Given the description of an element on the screen output the (x, y) to click on. 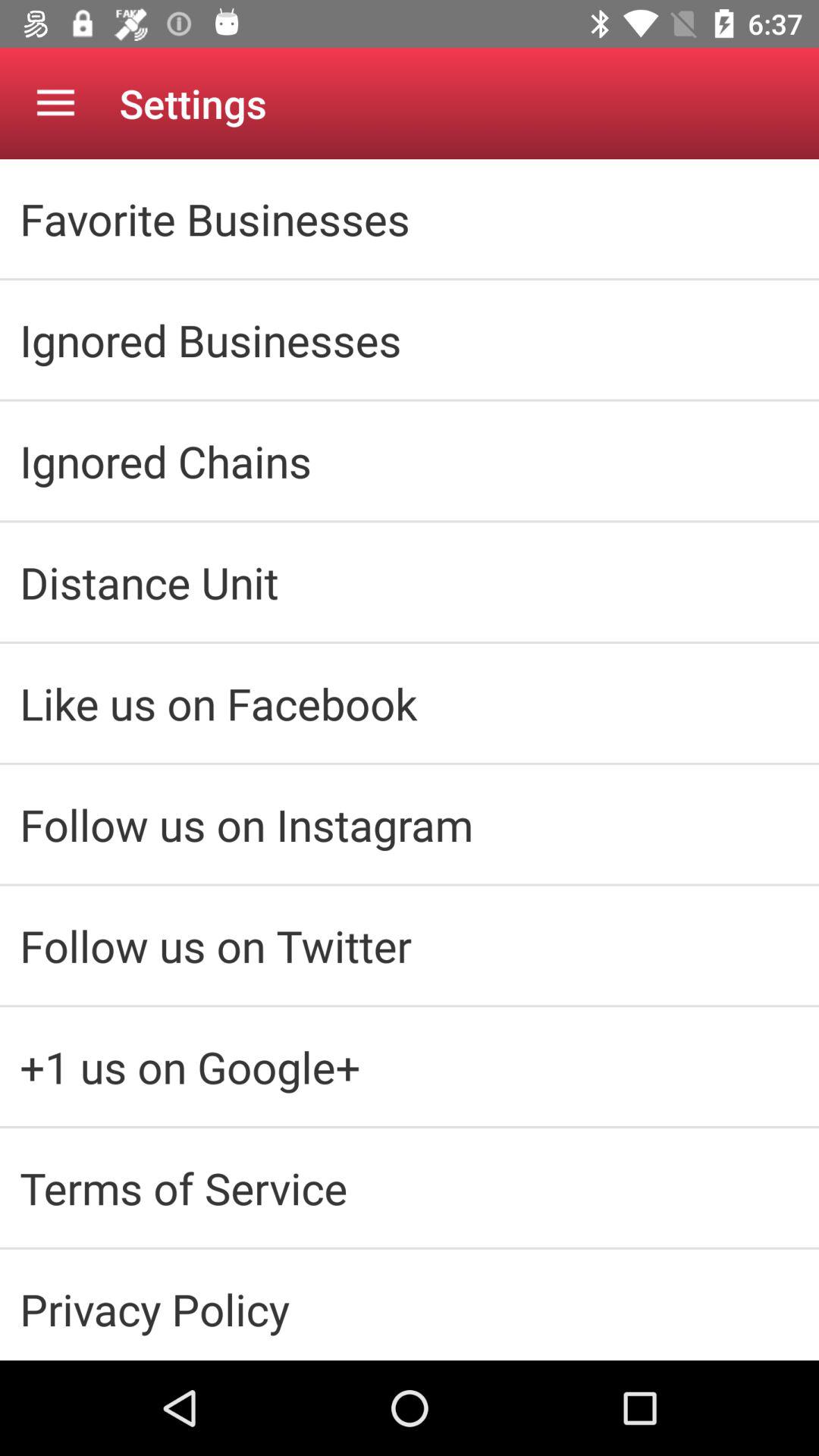
turn off the distance unit icon (409, 581)
